Given the description of an element on the screen output the (x, y) to click on. 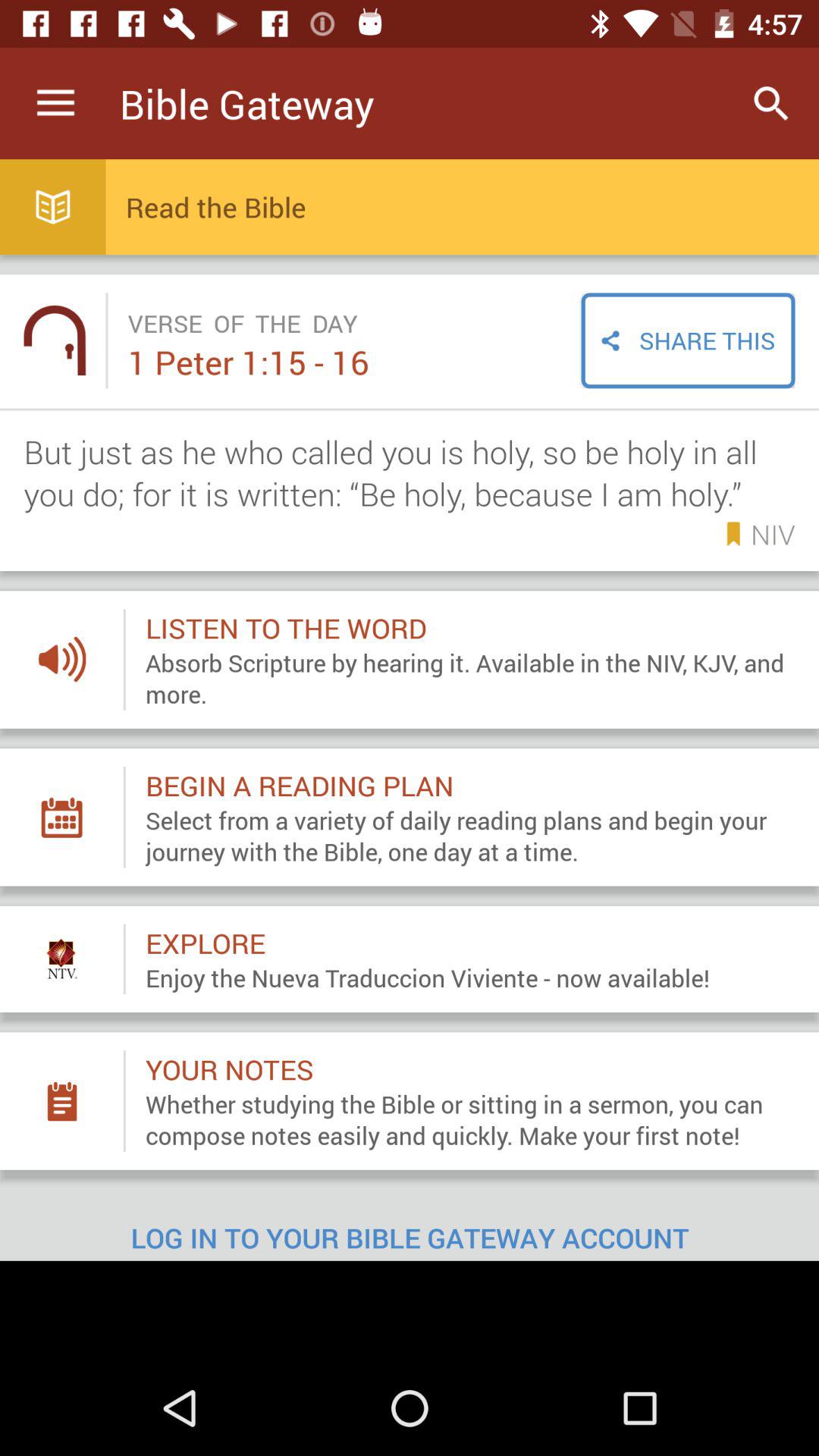
select icon to the right of the bible gateway (771, 103)
